Given the description of an element on the screen output the (x, y) to click on. 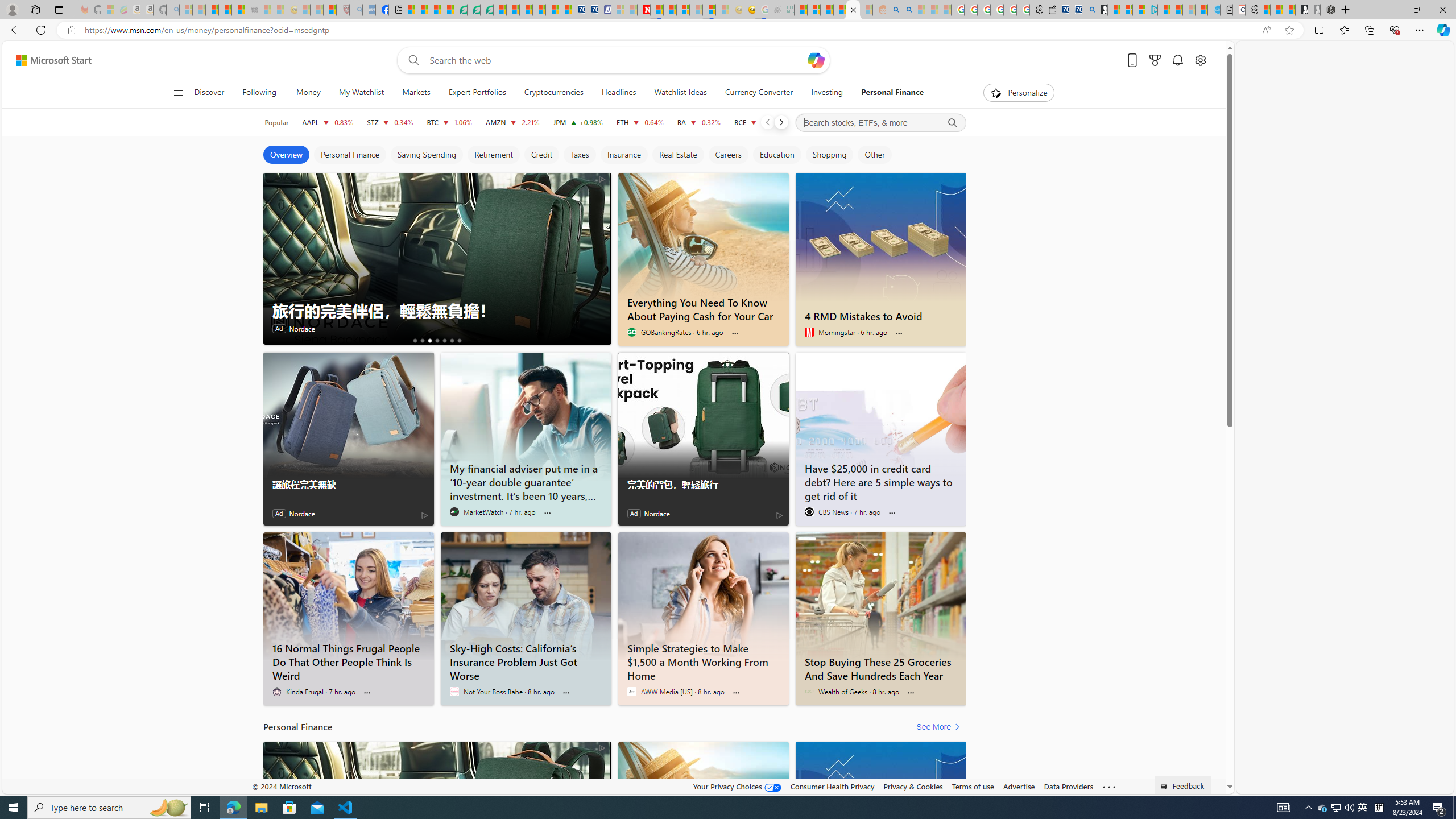
Markets (415, 92)
BA THE BOEING COMPANY decrease 172.87 -0.56 -0.32% (698, 122)
ETH Ethereum decrease 2,624.30 -16.80 -0.64% (639, 122)
LendingTree - Compare Lenders (460, 9)
Taxes (579, 154)
